Given the description of an element on the screen output the (x, y) to click on. 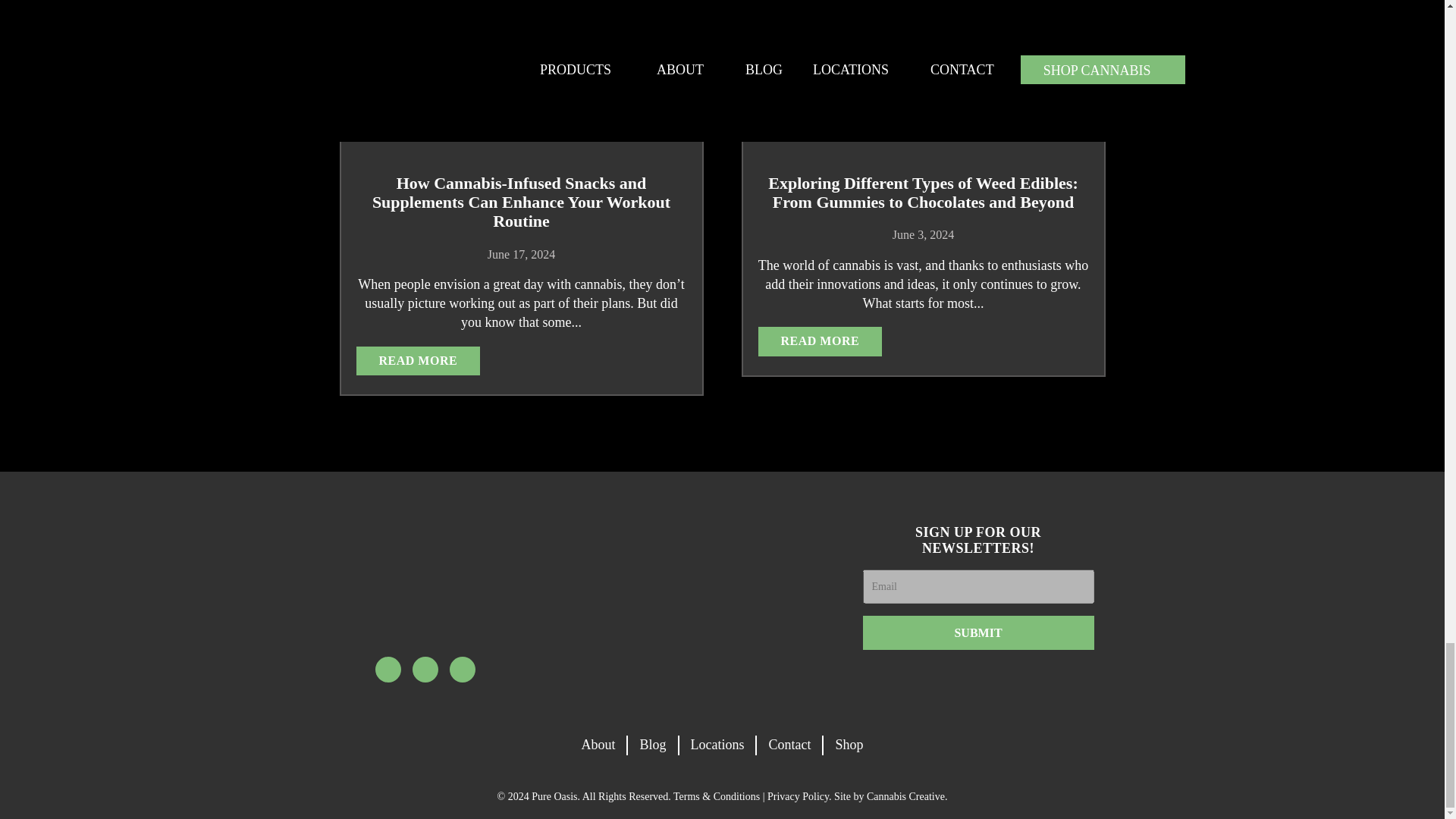
Submit (978, 632)
